Given the description of an element on the screen output the (x, y) to click on. 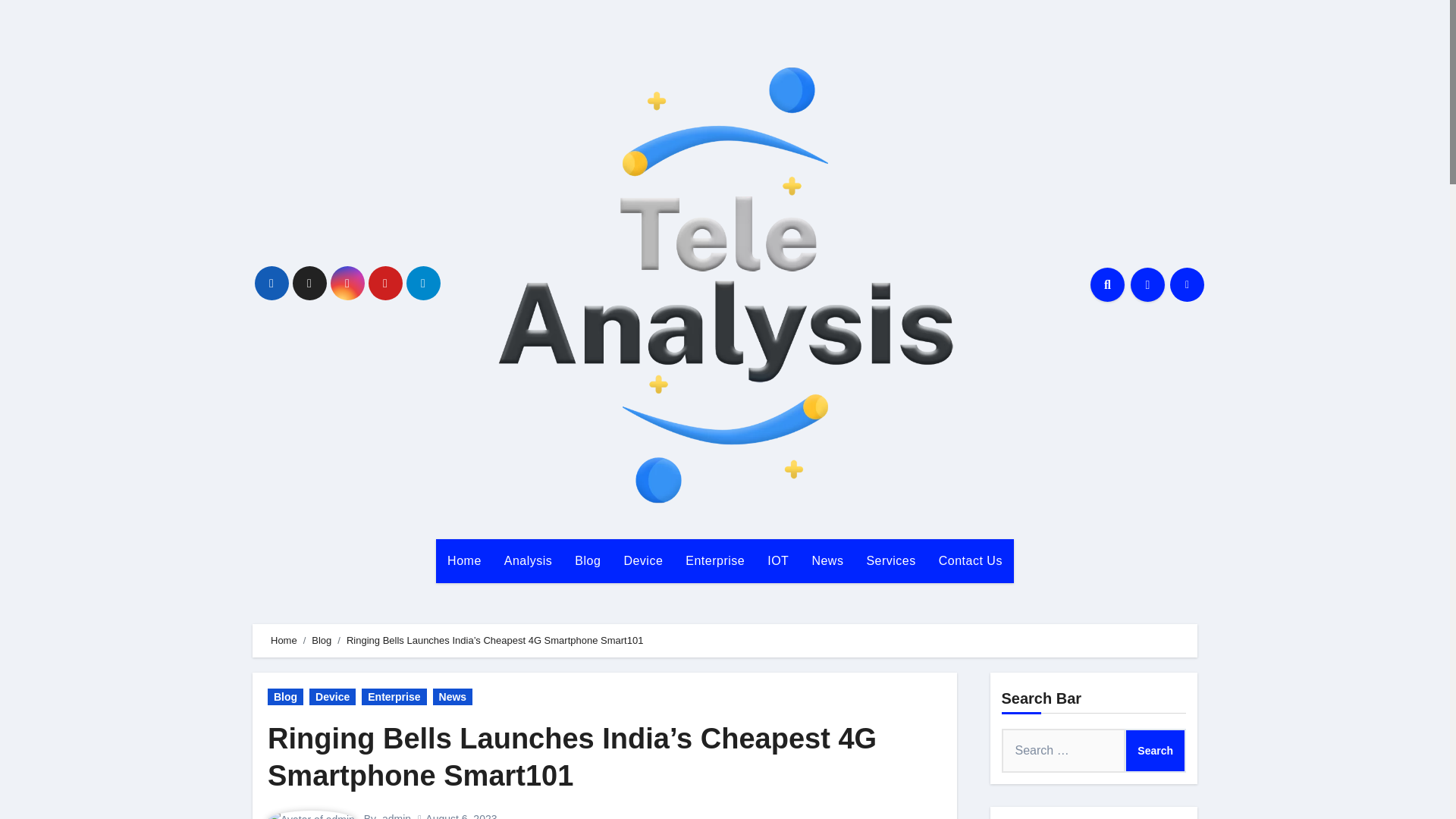
IOT (777, 560)
Analysis (528, 560)
Search (1155, 750)
admin (395, 816)
Enterprise (714, 560)
Services (890, 560)
Device (642, 560)
Device (331, 696)
Blog (284, 696)
Home (283, 640)
